Given the description of an element on the screen output the (x, y) to click on. 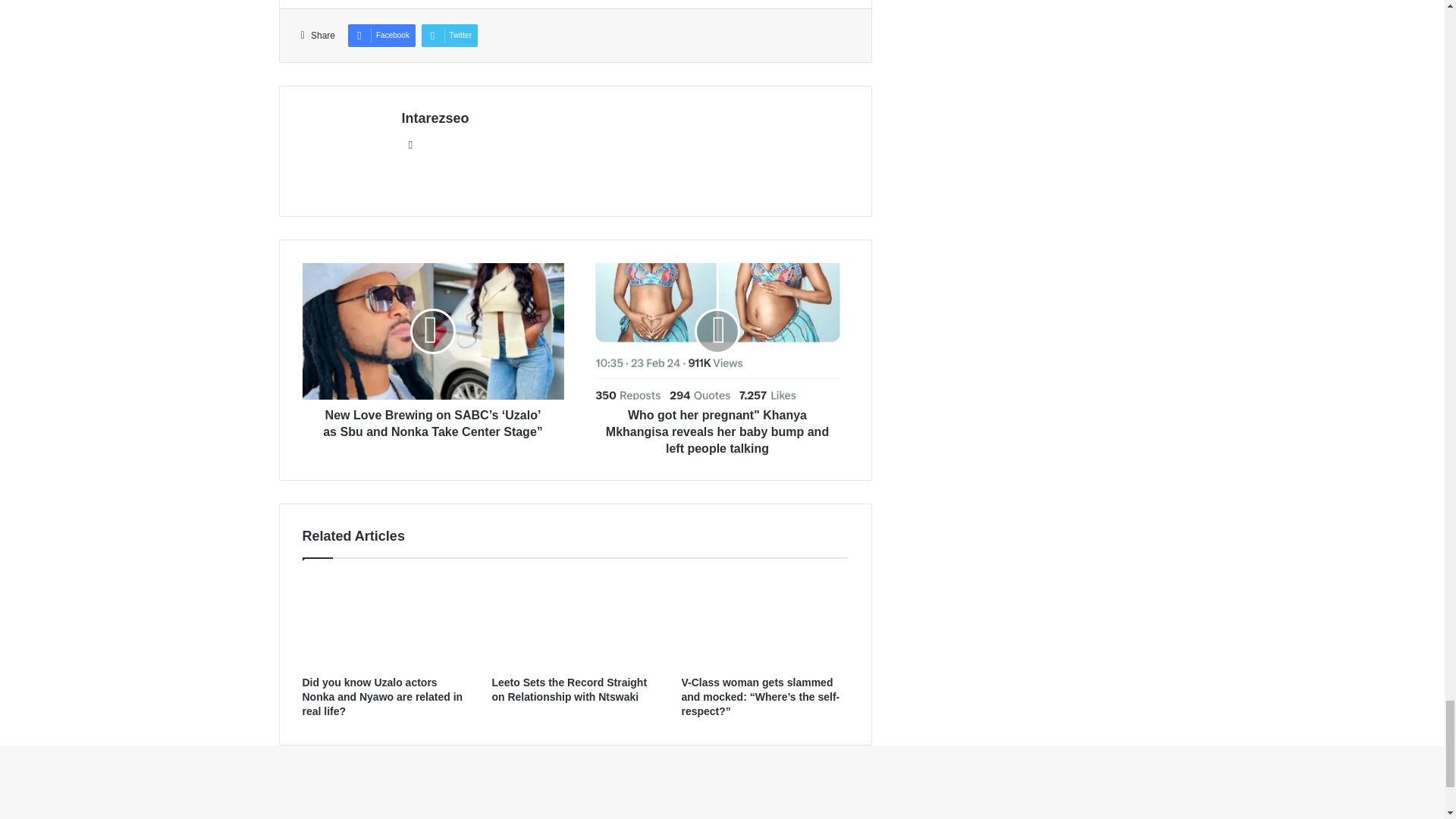
Twitter (449, 35)
Facebook (380, 35)
Website (410, 144)
Intarezseo (434, 118)
